Given the description of an element on the screen output the (x, y) to click on. 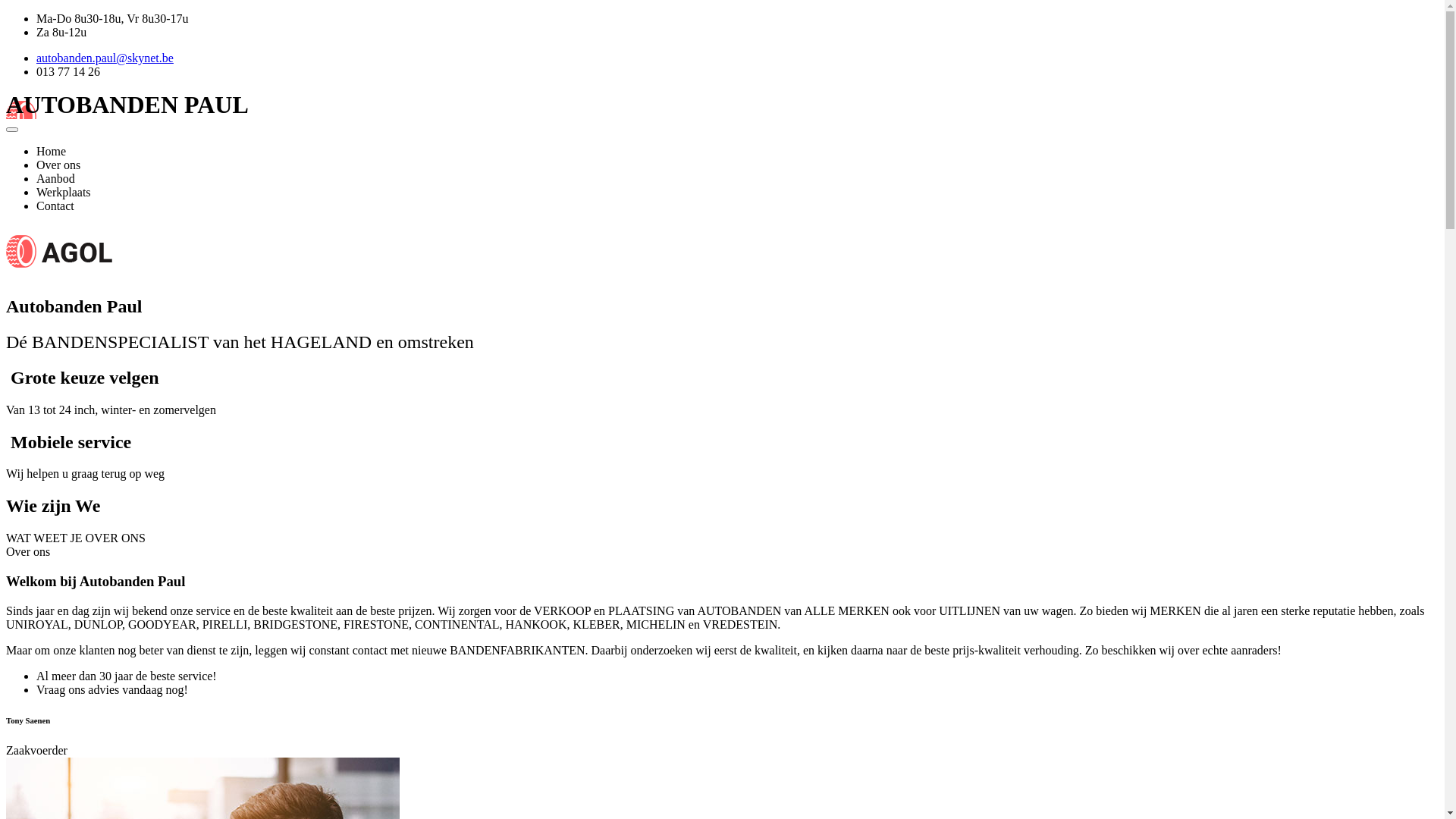
Home Element type: text (50, 150)
Aanbod Element type: text (55, 178)
Contact Element type: text (55, 205)
autobanden.paul@skynet.be Element type: text (104, 57)
Over ons Element type: text (58, 164)
Werkplaats Element type: text (63, 191)
